Given the description of an element on the screen output the (x, y) to click on. 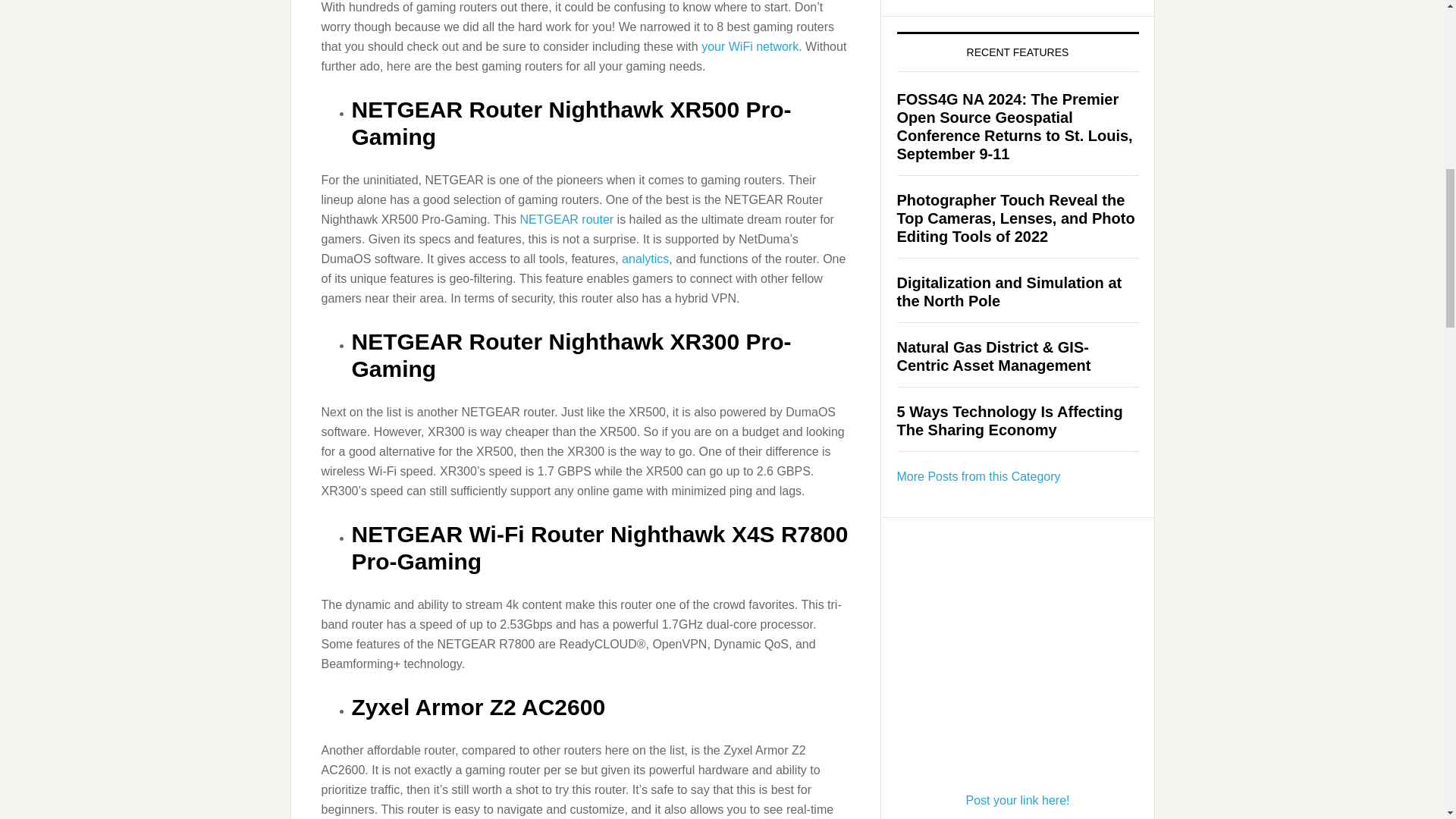
your WiFi network (749, 46)
Top Features (977, 476)
analytics (644, 258)
NETGEAR router (566, 219)
